Given the description of an element on the screen output the (x, y) to click on. 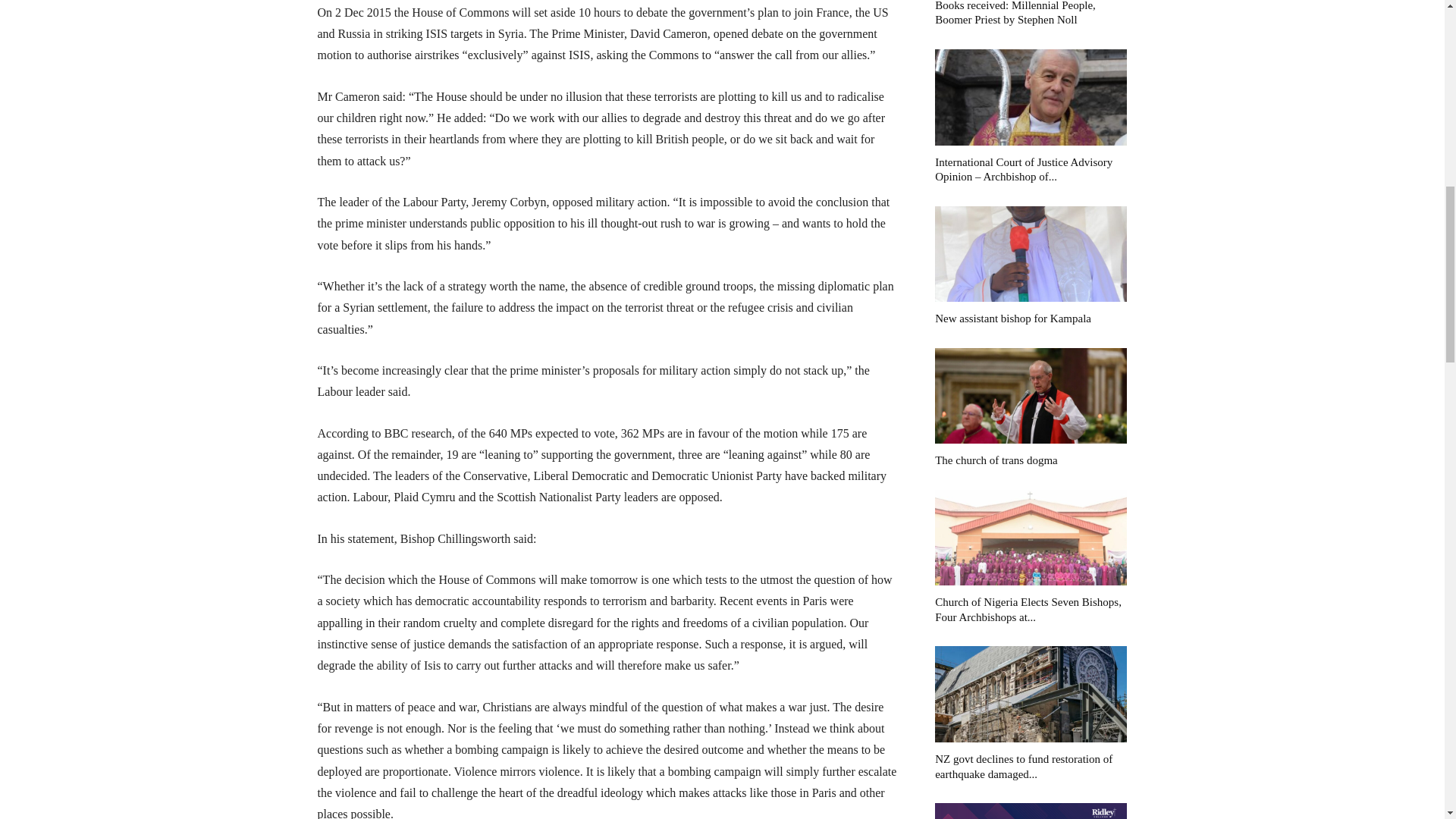
New assistant bishop for Kampala (1012, 318)
The church of trans dogma (996, 460)
